Given the description of an element on the screen output the (x, y) to click on. 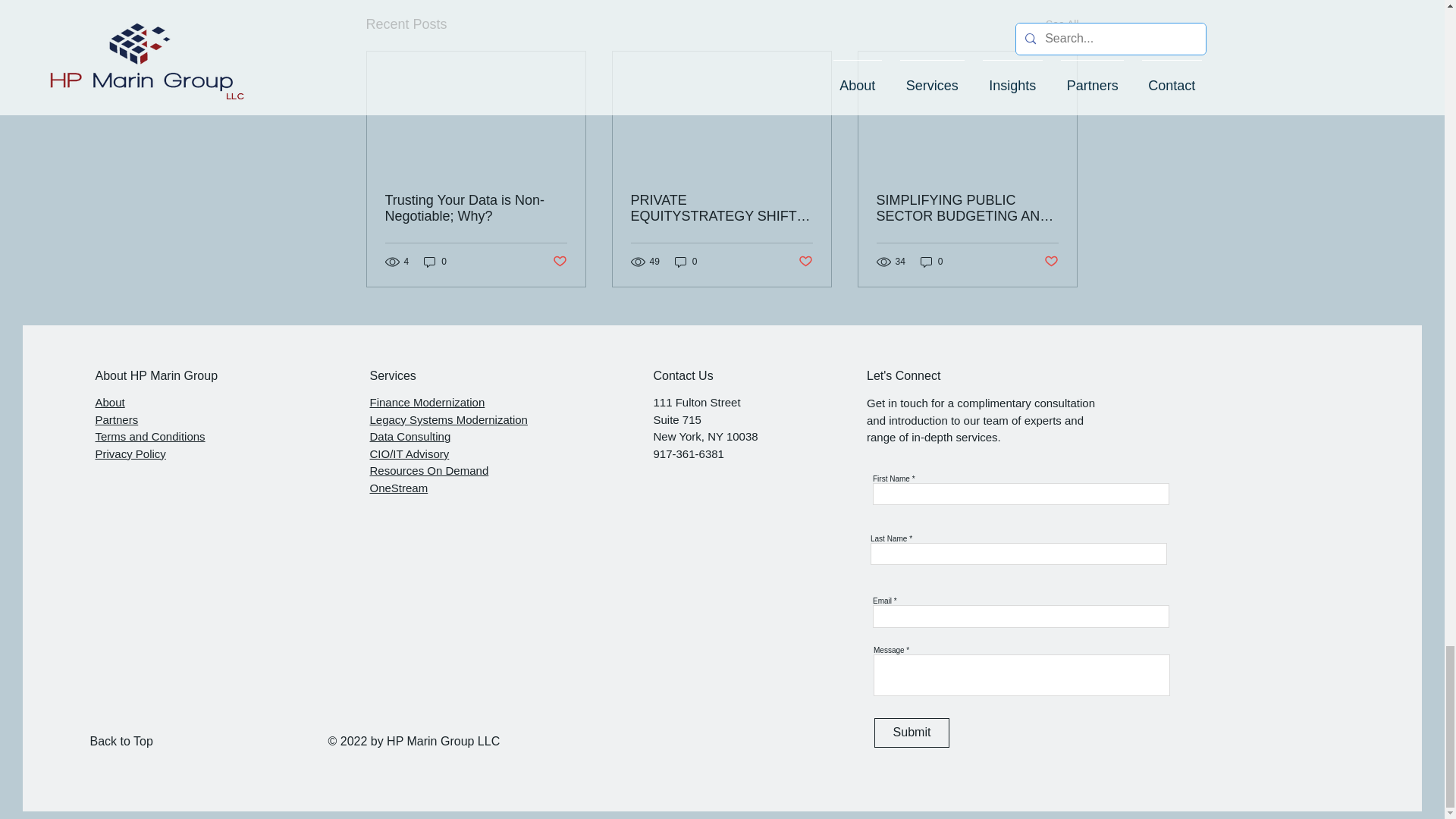
PRIVATE EQUITYSTRATEGY SHIFT FOR A CHANGING MARKETPLACE (721, 208)
See All (1061, 24)
Post not marked as liked (804, 261)
Post not marked as liked (1050, 261)
0 (685, 261)
Post not marked as liked (558, 261)
0 (435, 261)
0 (931, 261)
Trusting Your Data is Non-Negotiable; Why? (476, 208)
